Given the description of an element on the screen output the (x, y) to click on. 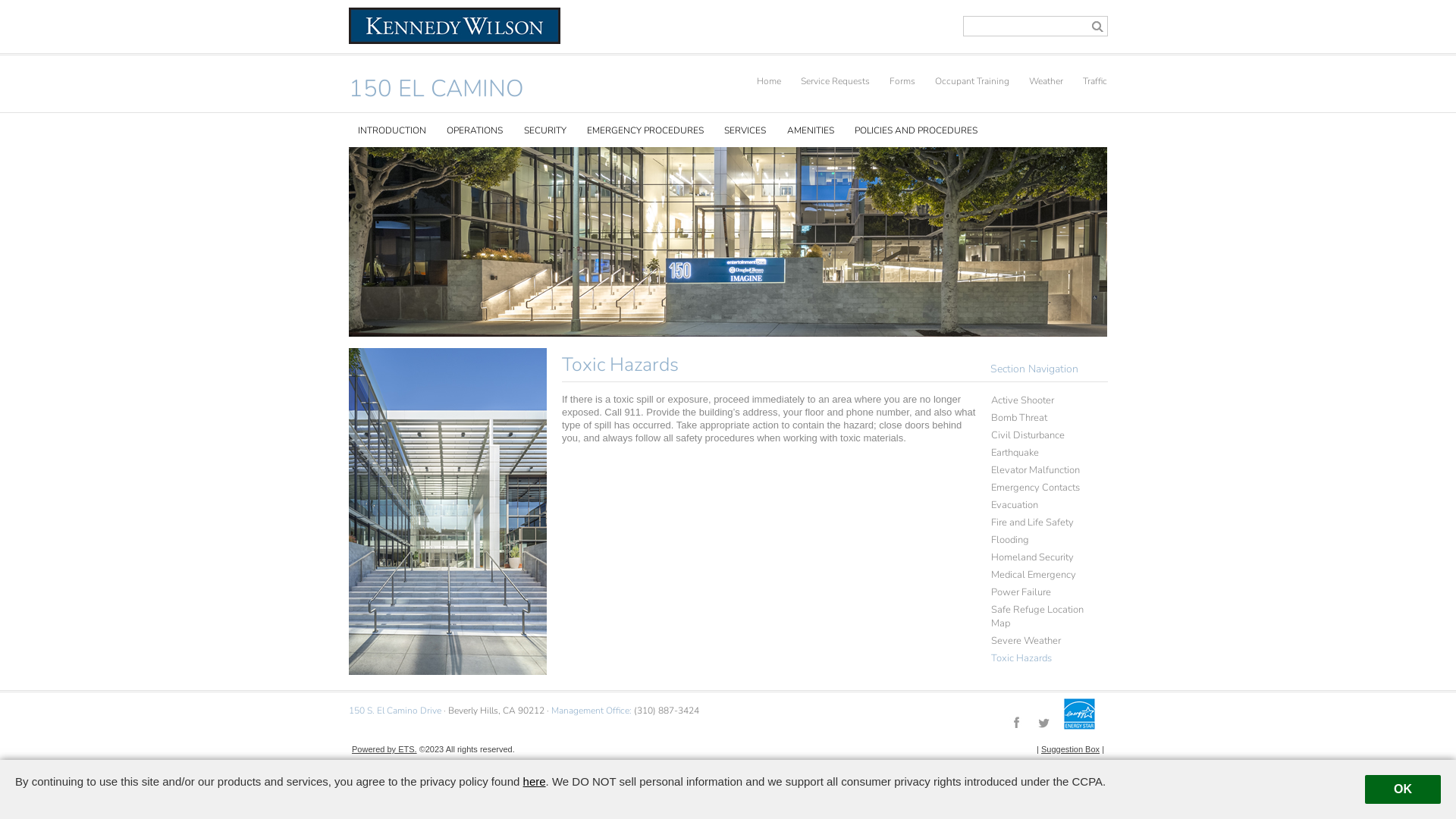
Service Requests Element type: text (826, 81)
Powered by ETS. Element type: text (384, 748)
150 EL CAMINO Element type: text (436, 88)
Forms Element type: text (893, 81)
Traffic Element type: text (1086, 81)
Weather Element type: text (1037, 81)
Elevator Malfunction Element type: text (1040, 467)
Suggestion Box Element type: text (1070, 748)
Evacuation Element type: text (1040, 502)
Active Shooter Element type: text (1040, 398)
Power Failure Element type: text (1040, 590)
Homeland Security Element type: text (1040, 555)
Occupant Training Element type: text (963, 81)
Emergency Contacts Element type: text (1040, 485)
Fire and Life Safety Element type: text (1040, 520)
Earthquake Element type: text (1040, 450)
Civil Disturbance Element type: text (1040, 433)
Severe Weather Element type: text (1040, 638)
here Element type: text (534, 781)
Safe Refuge Location Map Element type: text (1040, 614)
Flooding Element type: text (1040, 537)
Bomb Threat Element type: text (1040, 415)
Home Element type: text (760, 81)
Toxic Hazards Element type: text (1040, 656)
Medical Emergency Element type: text (1040, 572)
